Given the description of an element on the screen output the (x, y) to click on. 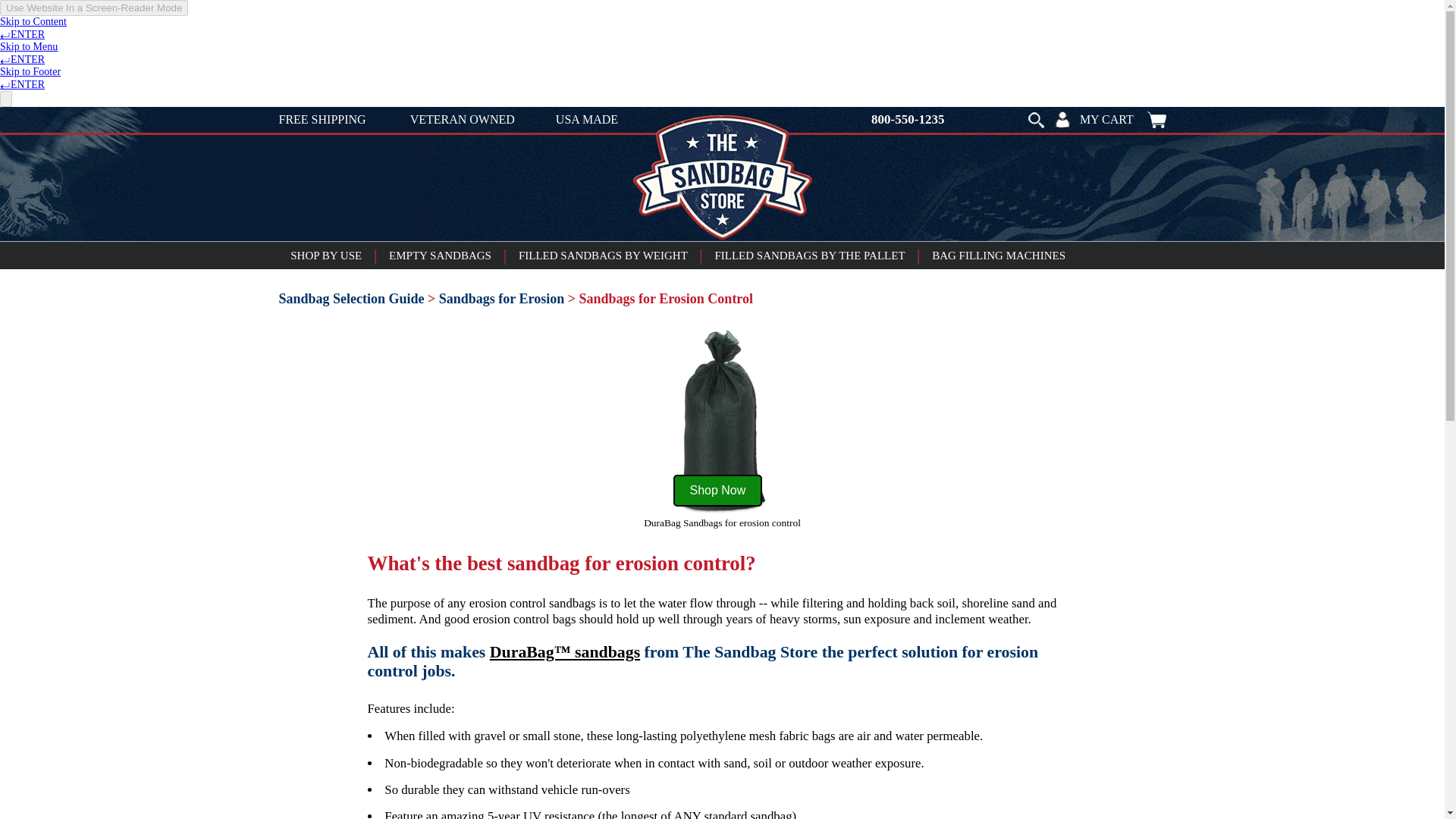
 EMPTY SANDBAGS  (439, 255)
Shop by Use (326, 255)
MY CART (1123, 119)
 SHOP BY USE  (326, 255)
MY CART   (1123, 119)
